Given the description of an element on the screen output the (x, y) to click on. 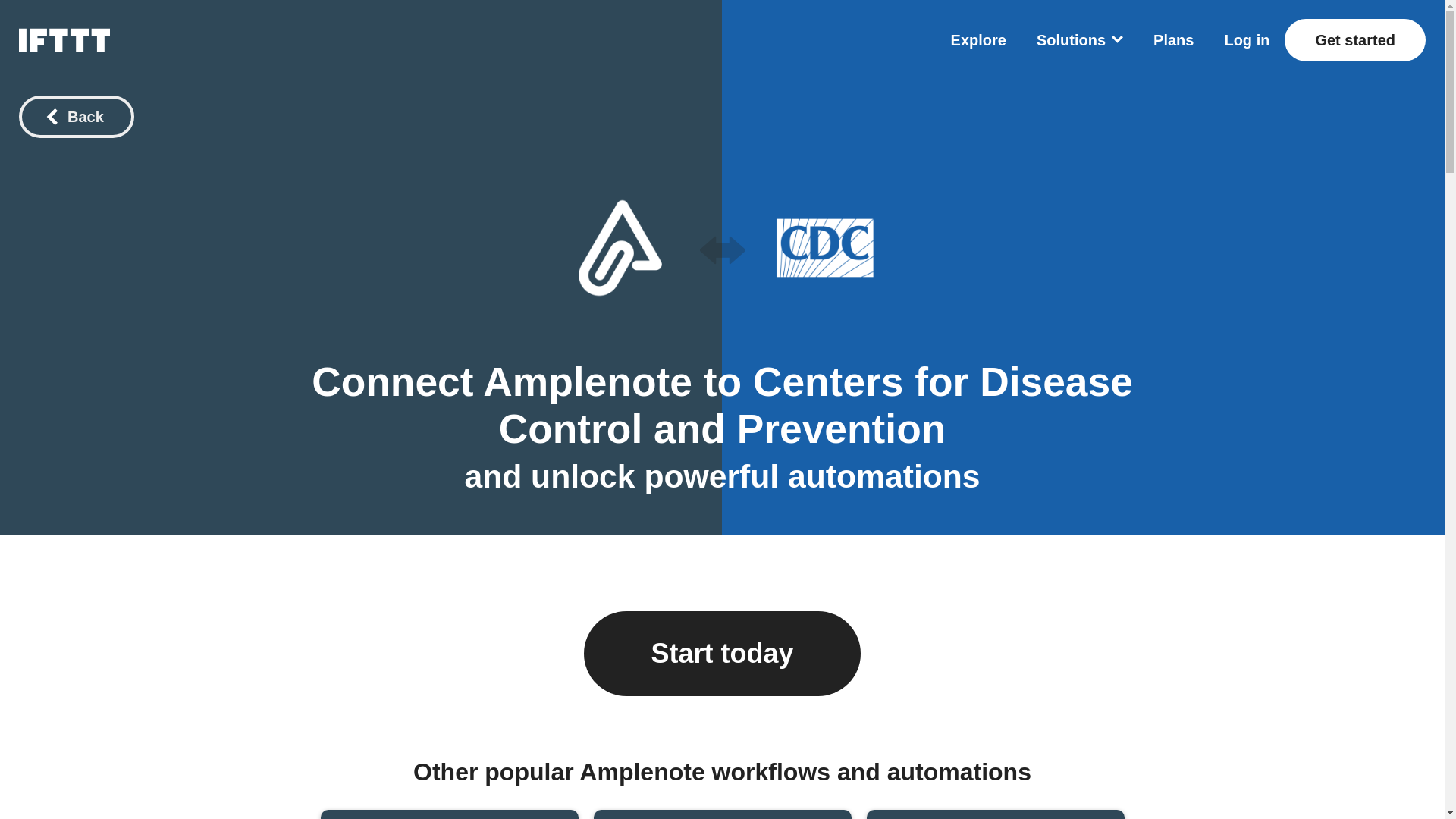
Centers for Disease Control and Prevention (815, 405)
Amplenote (588, 381)
Start today (721, 653)
Centers for Disease Control and Prevention (823, 248)
Plans (721, 814)
Back (1173, 39)
Explore (75, 116)
Explore (978, 39)
Plans (978, 39)
